Given the description of an element on the screen output the (x, y) to click on. 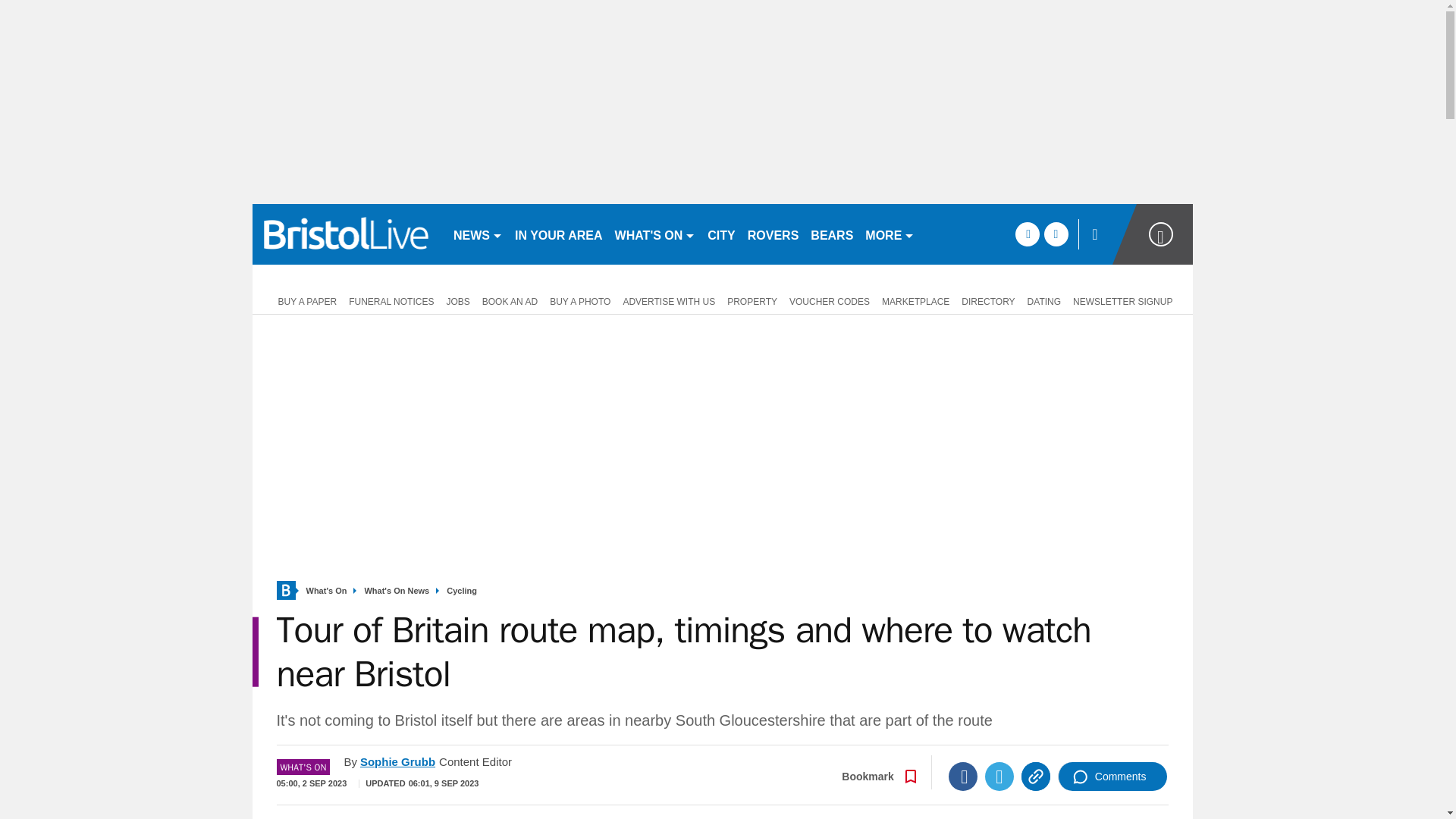
MORE (889, 233)
twitter (1055, 233)
IN YOUR AREA (558, 233)
Comments (1112, 776)
WHAT'S ON (654, 233)
ROVERS (773, 233)
facebook (1026, 233)
NEWS (477, 233)
bristolpost (345, 233)
Twitter (999, 776)
Facebook (962, 776)
BEARS (832, 233)
